Given the description of an element on the screen output the (x, y) to click on. 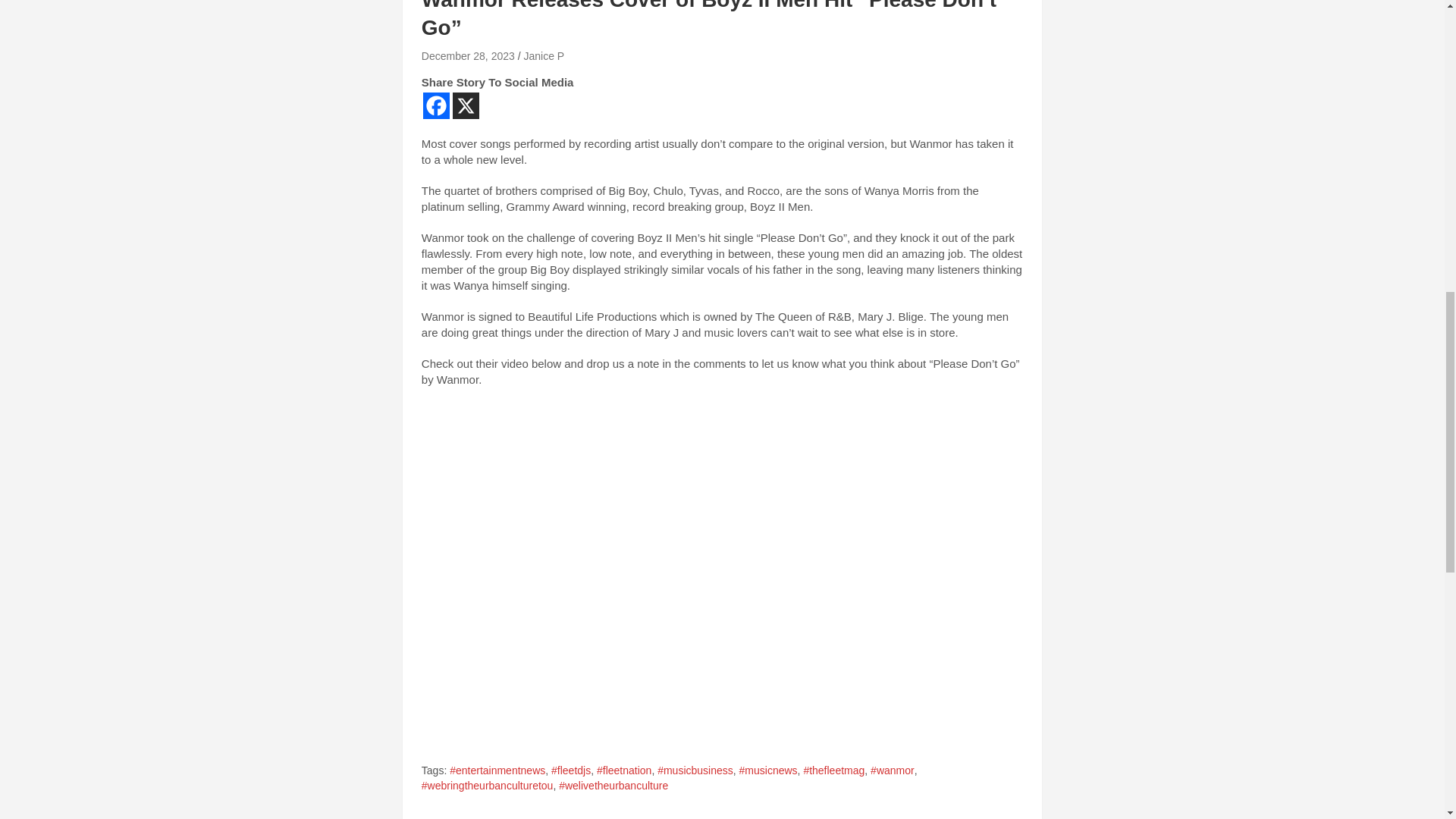
December 28, 2023 (468, 55)
Janice P (543, 55)
X (465, 105)
Facebook (436, 105)
